Given the description of an element on the screen output the (x, y) to click on. 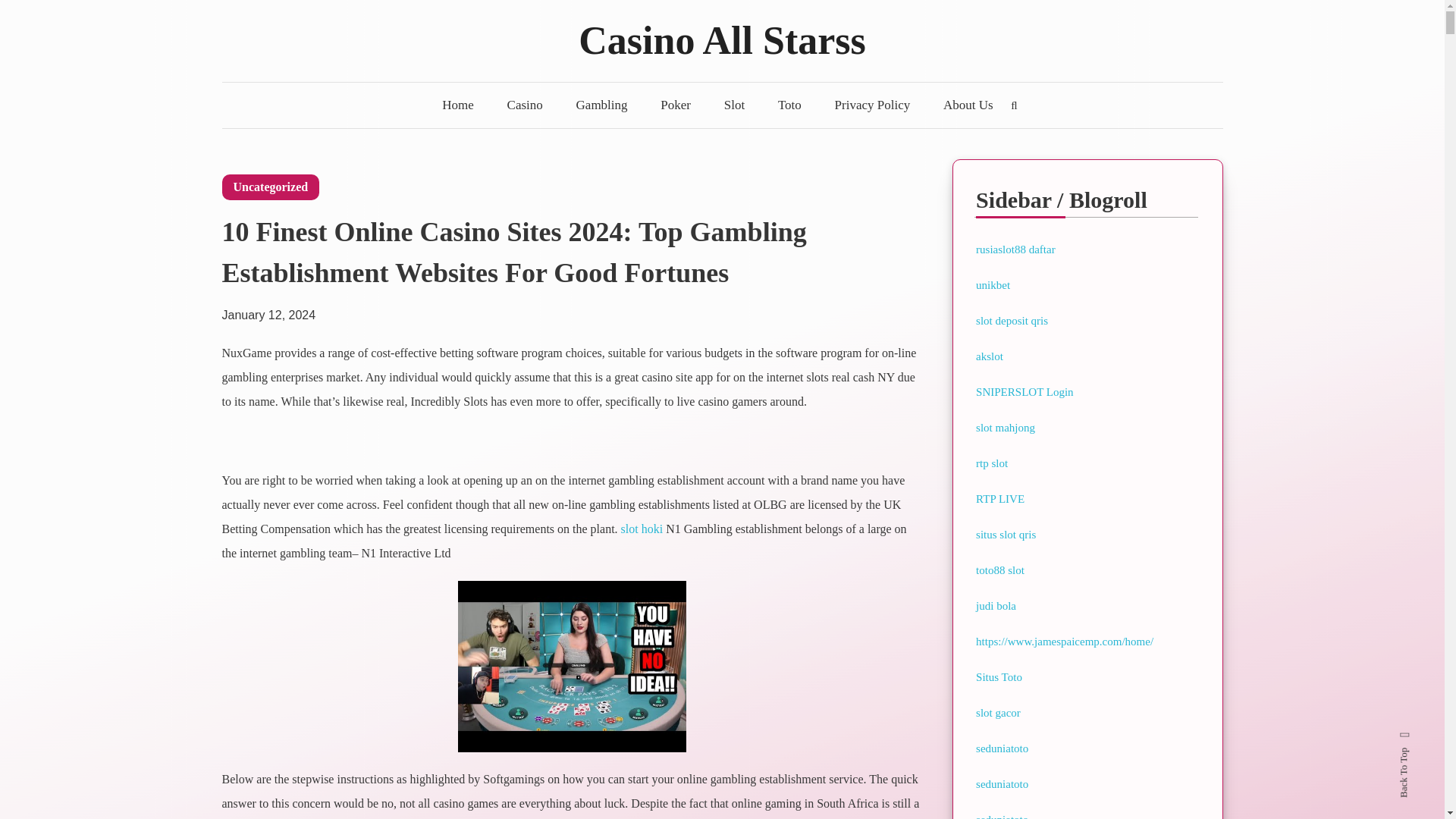
Situs Toto (998, 676)
slot deposit qris (1011, 320)
slot hoki (642, 528)
slot gacor (997, 712)
Home (457, 104)
unikbet (992, 285)
akslot (989, 356)
About Us (968, 104)
Uncategorized (269, 186)
Search (768, 432)
